Given the description of an element on the screen output the (x, y) to click on. 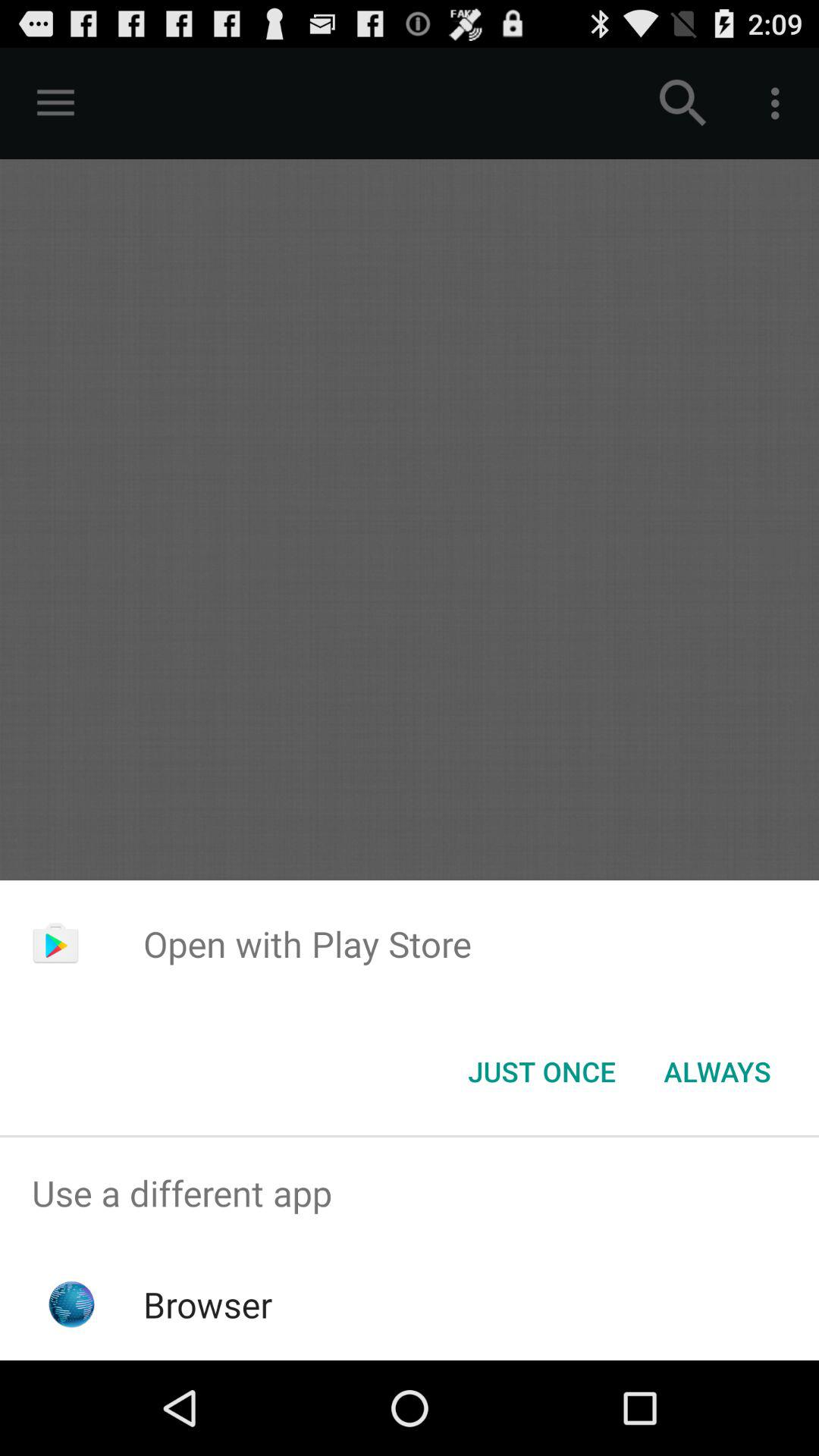
tap item below the use a different (207, 1304)
